Given the description of an element on the screen output the (x, y) to click on. 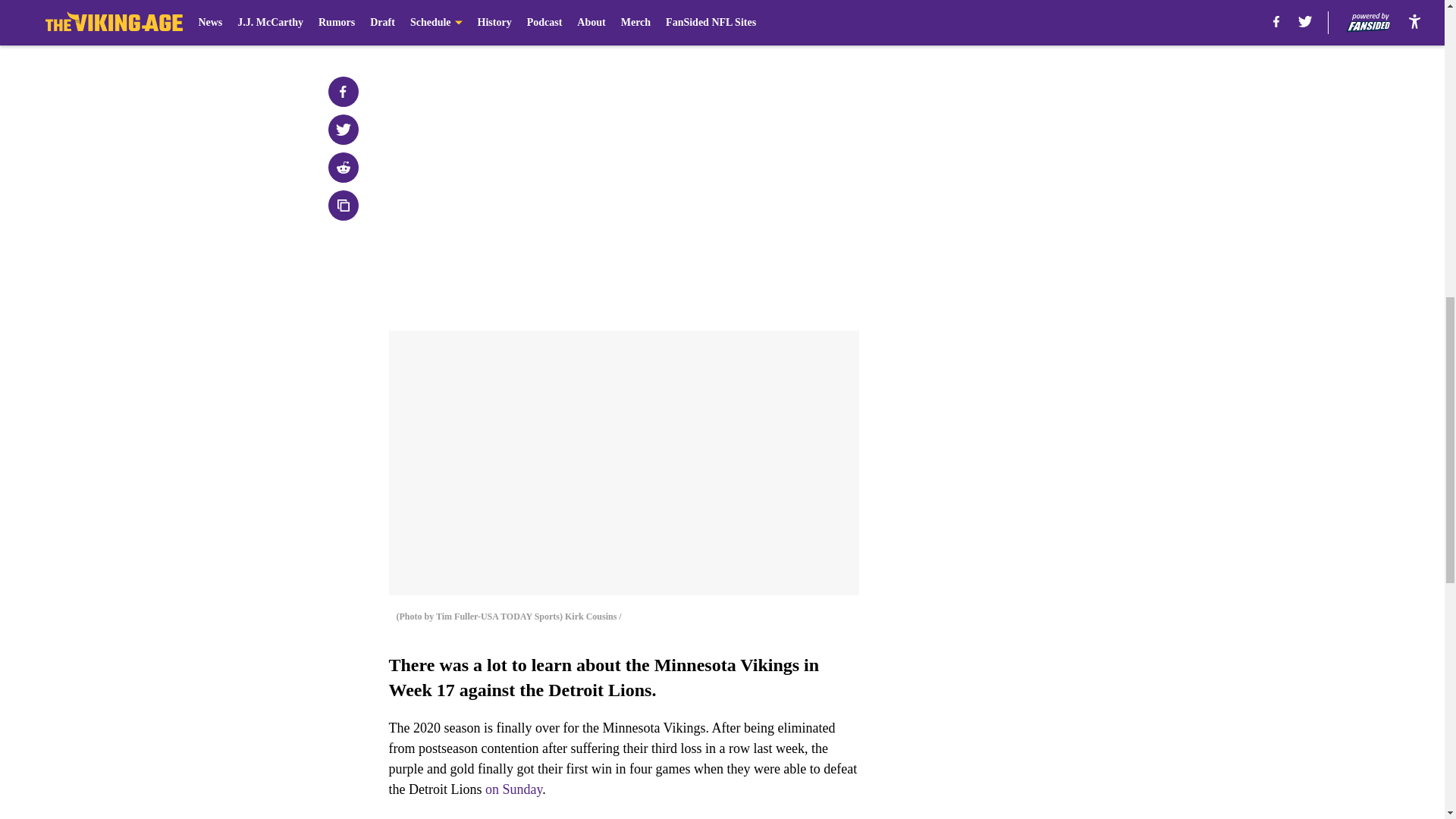
Prev (433, 20)
on Sunday (512, 789)
Next (813, 20)
